Given the description of an element on the screen output the (x, y) to click on. 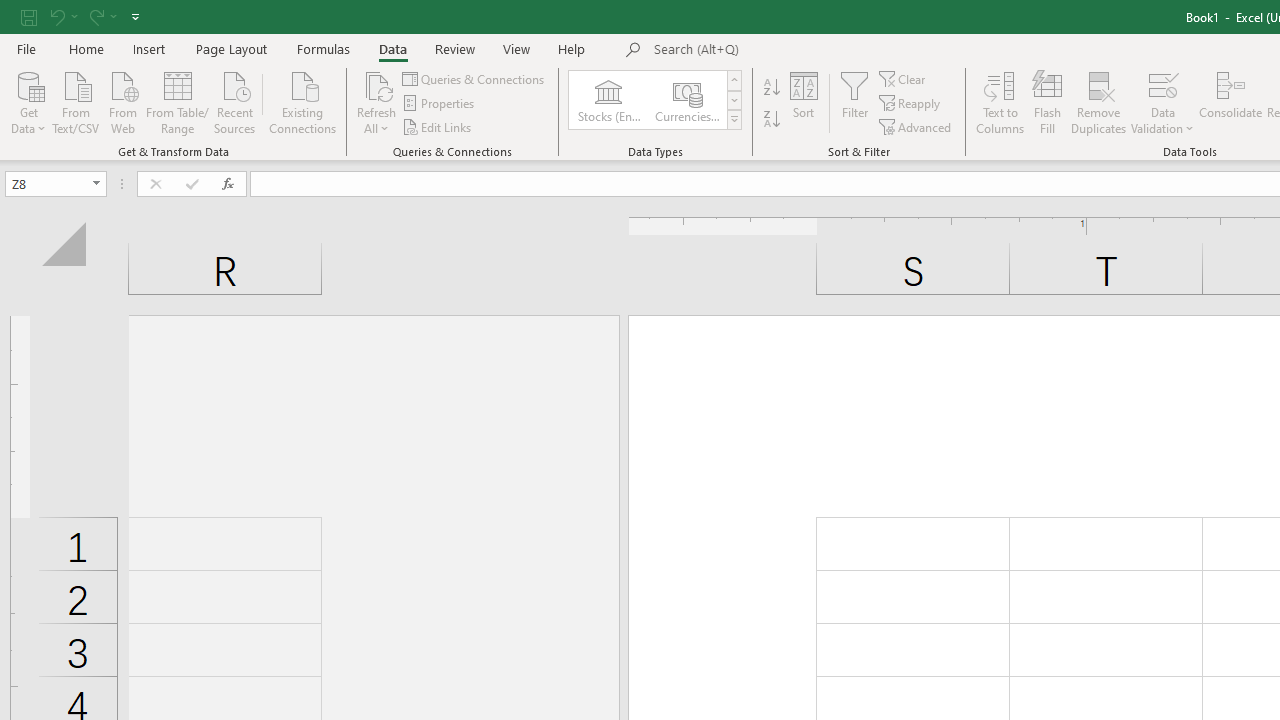
Consolidate... (1230, 102)
